Given the description of an element on the screen output the (x, y) to click on. 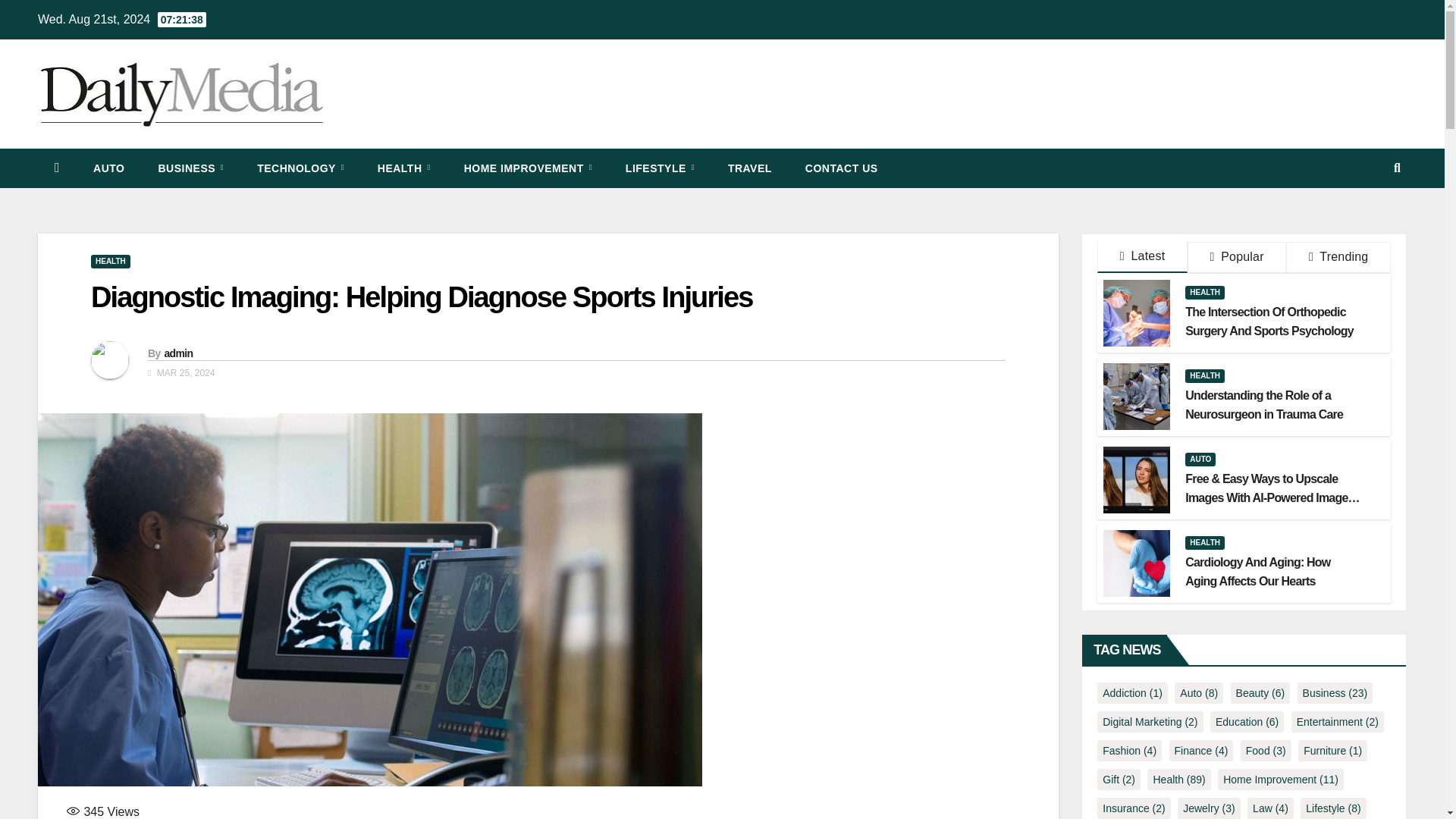
HOME IMPROVEMENT (527, 168)
HEALTH (110, 261)
Home Improvement (527, 168)
AUTO (109, 168)
LIFESTYLE (659, 168)
Diagnostic Imaging: Helping Diagnose Sports Injuries (421, 296)
TECHNOLOGY (300, 168)
Technology (300, 168)
CONTACT US (842, 168)
TRAVEL (750, 168)
